Given the description of an element on the screen output the (x, y) to click on. 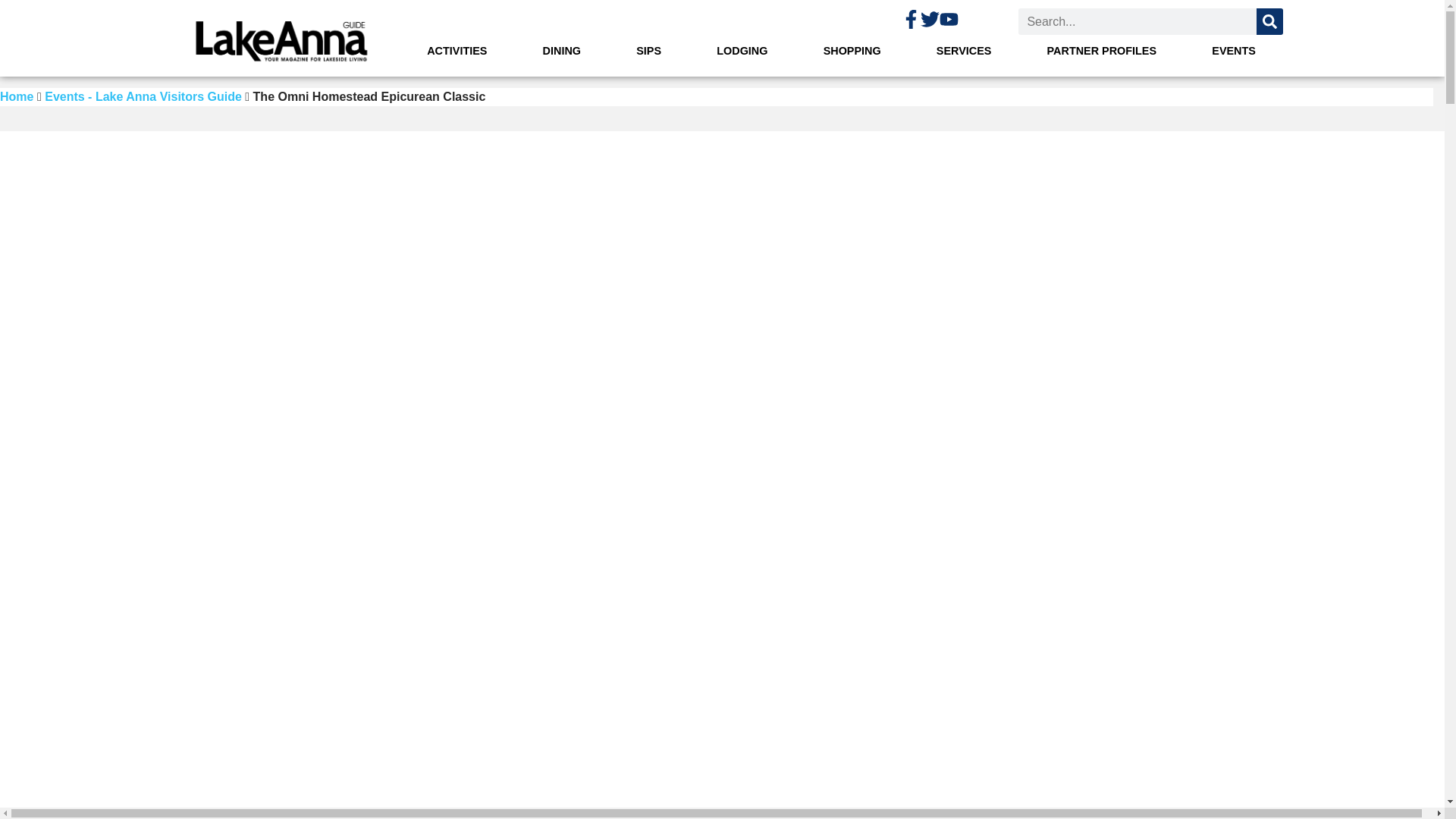
SERVICES (963, 51)
EVENTS (1234, 51)
PARTNER PROFILES (1102, 51)
SHOPPING (851, 51)
SIPS (648, 51)
LODGING (741, 51)
ACTIVITIES (456, 51)
DINING (561, 51)
